Given the description of an element on the screen output the (x, y) to click on. 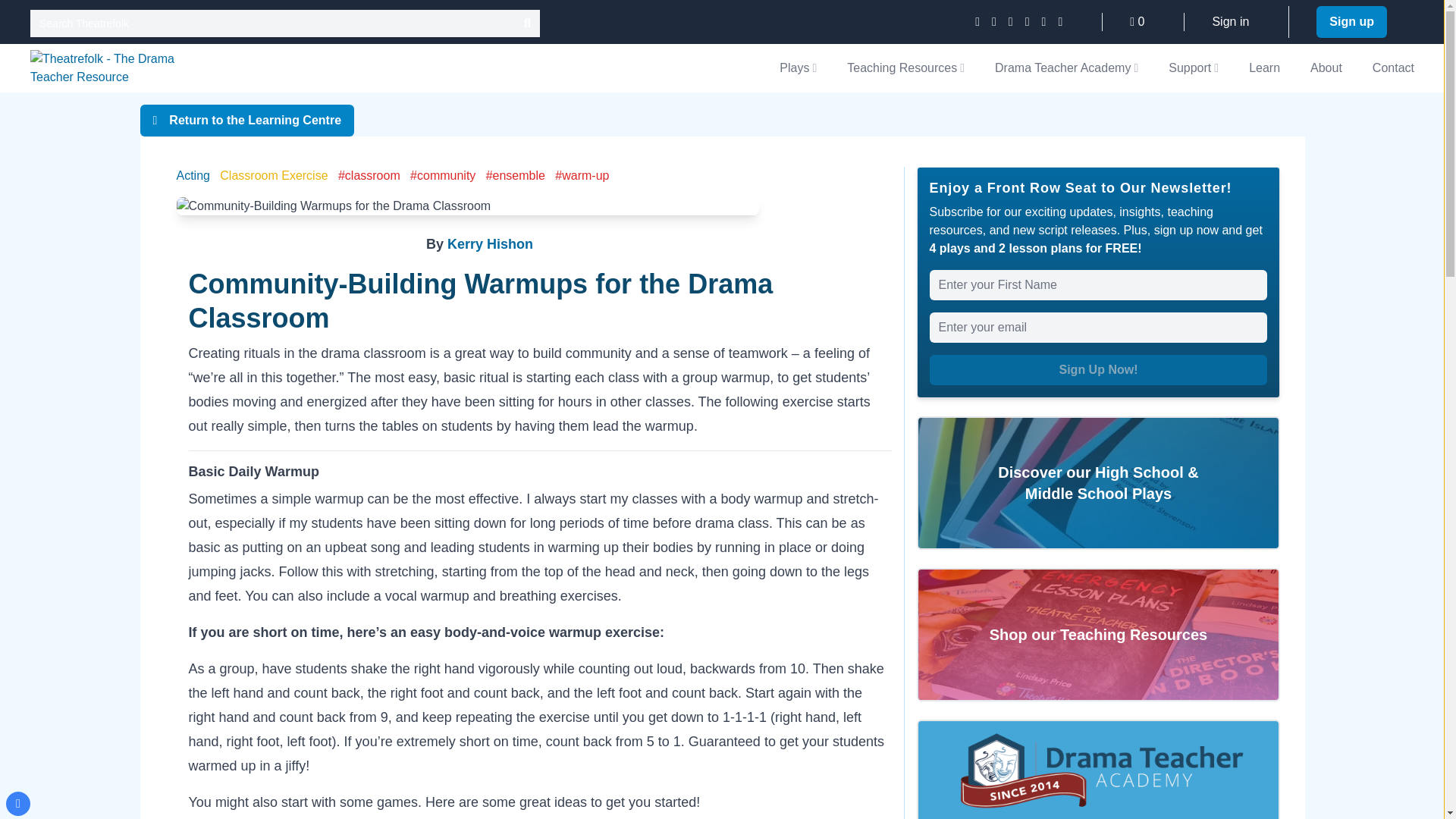
Learn (1264, 67)
About (1326, 67)
Sign in (1230, 21)
Plays (797, 67)
Drama Teacher Academy (1066, 67)
Sign up (1351, 21)
Teaching Resources (905, 67)
0 (1136, 21)
Support (1193, 67)
Theatrefolk - The Drama Teacher Resource Company (103, 67)
